Given the description of an element on the screen output the (x, y) to click on. 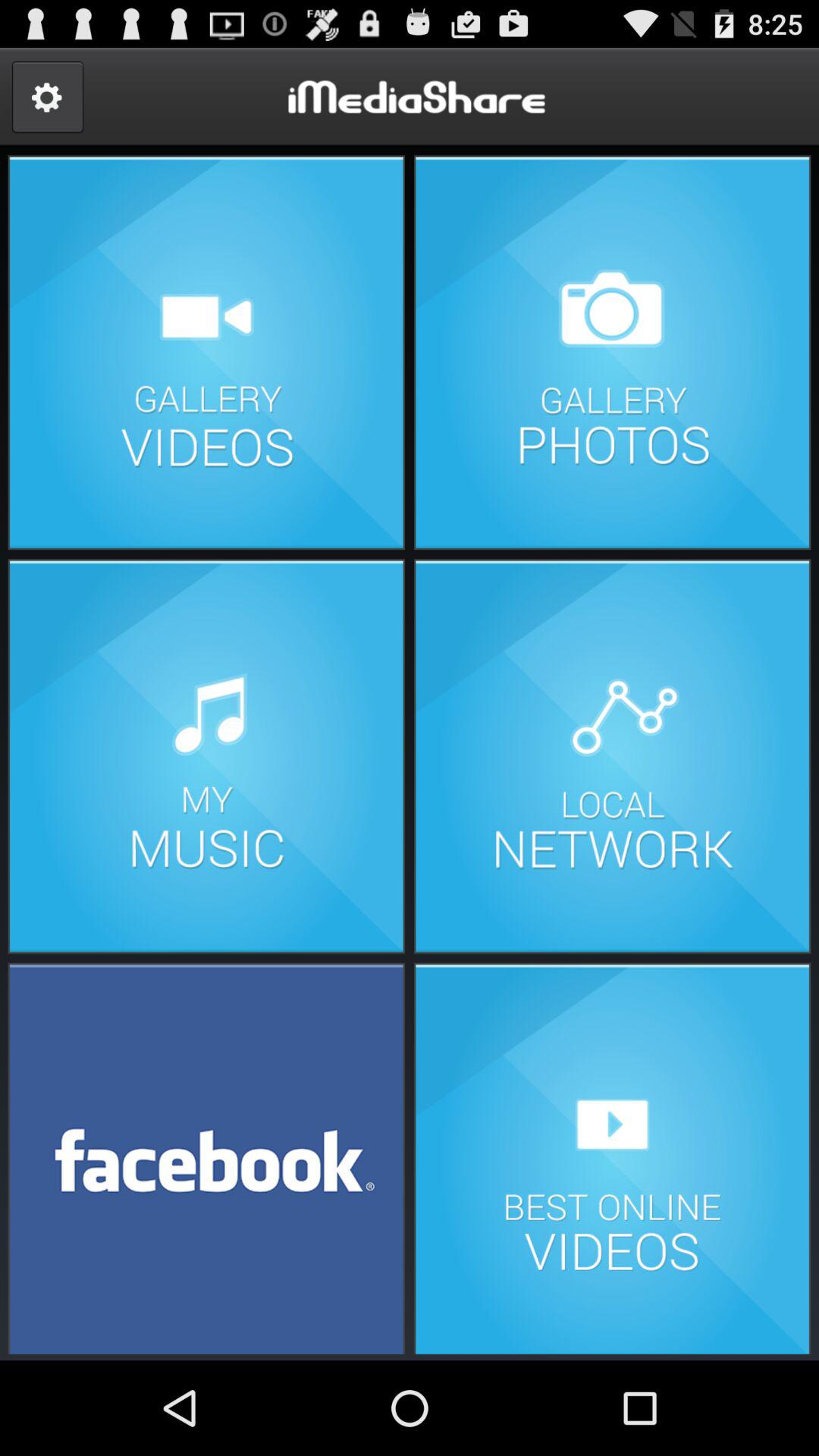
open facebook (206, 1157)
